Given the description of an element on the screen output the (x, y) to click on. 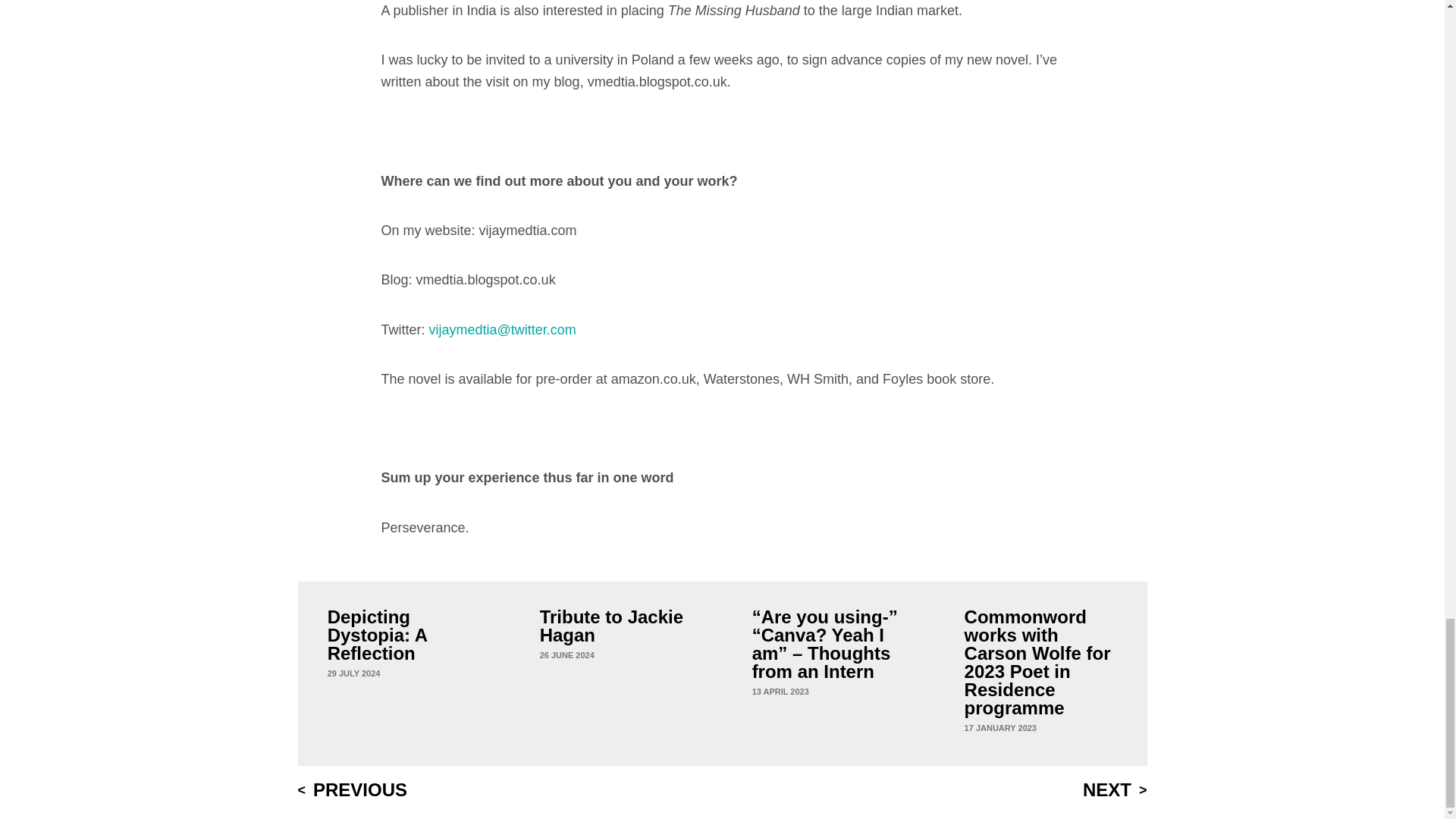
Permalink to Depicting Dystopia: A Reflection (353, 673)
Permalink to Tribute to Jackie Hagan (567, 655)
